Given the description of an element on the screen output the (x, y) to click on. 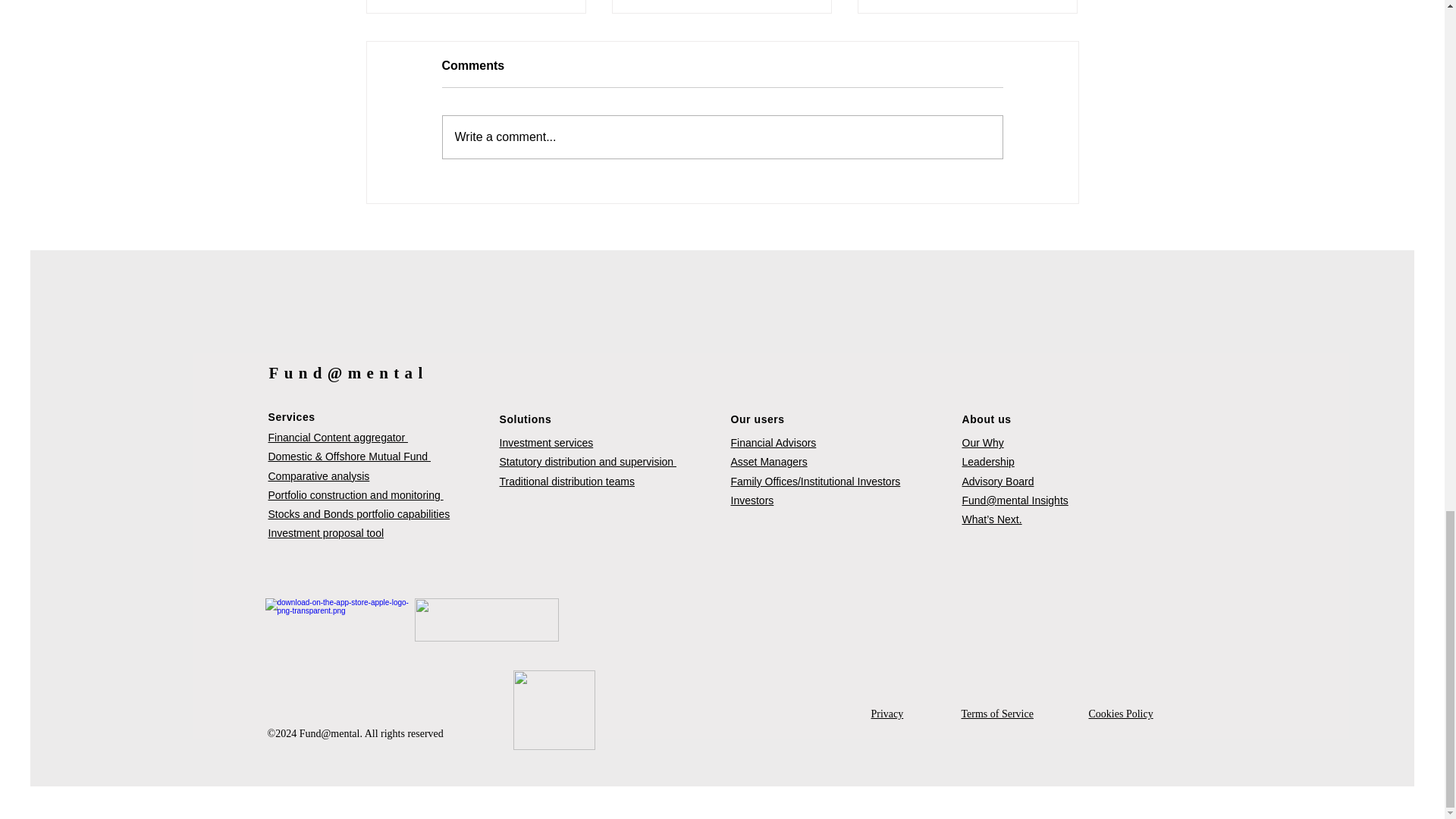
google-play-badge-logo-png-transparent.p (485, 619)
Write a comment... (722, 137)
